Given the description of an element on the screen output the (x, y) to click on. 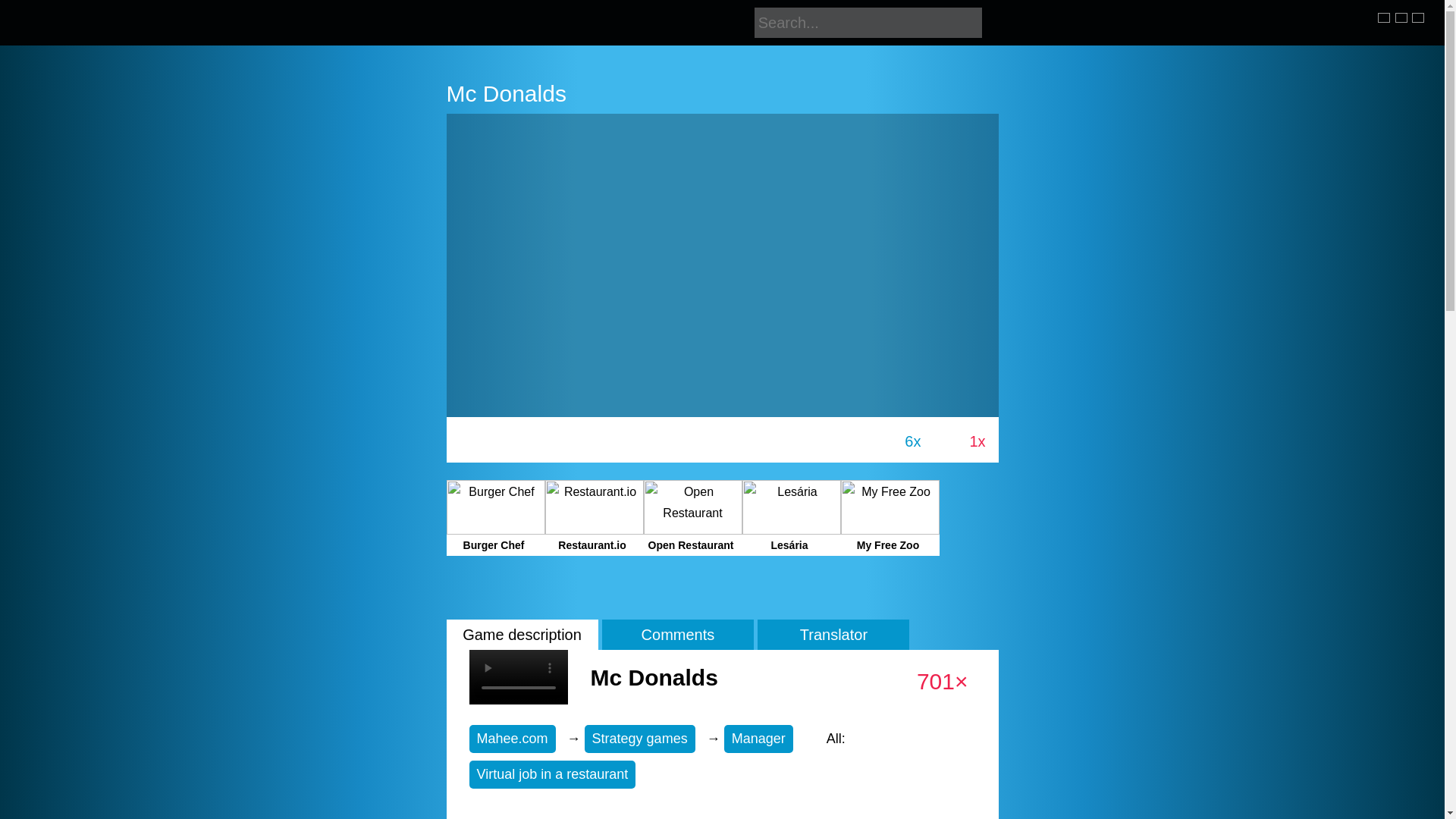
Strategy games (640, 738)
Virtual job in a restaurant (551, 774)
Manager (758, 738)
Mahee.com (511, 738)
